Given the description of an element on the screen output the (x, y) to click on. 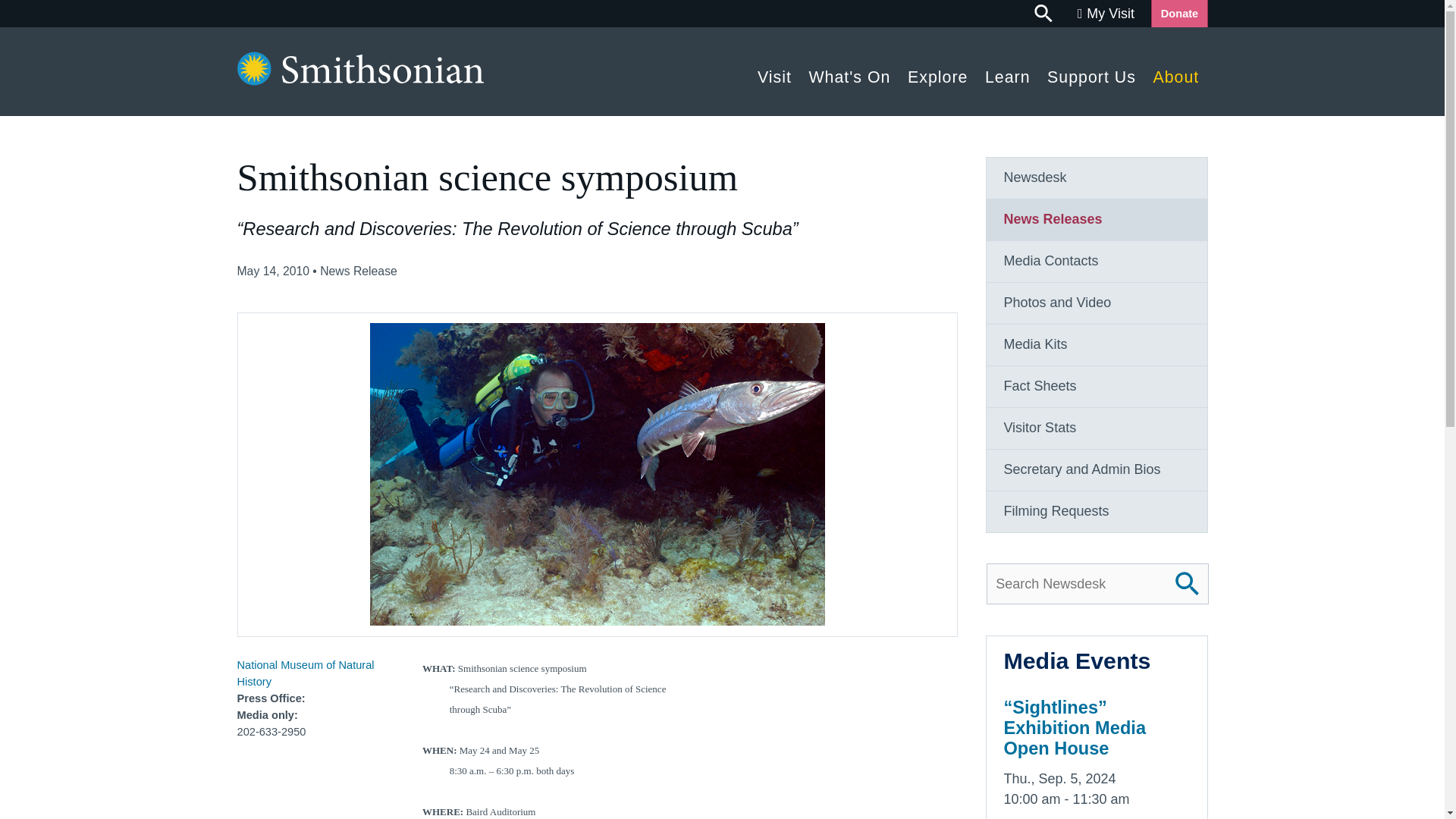
Search (1044, 13)
What's On (849, 72)
Explore (937, 72)
My Visit (1105, 13)
Home (359, 80)
Donate (1179, 13)
